Given the description of an element on the screen output the (x, y) to click on. 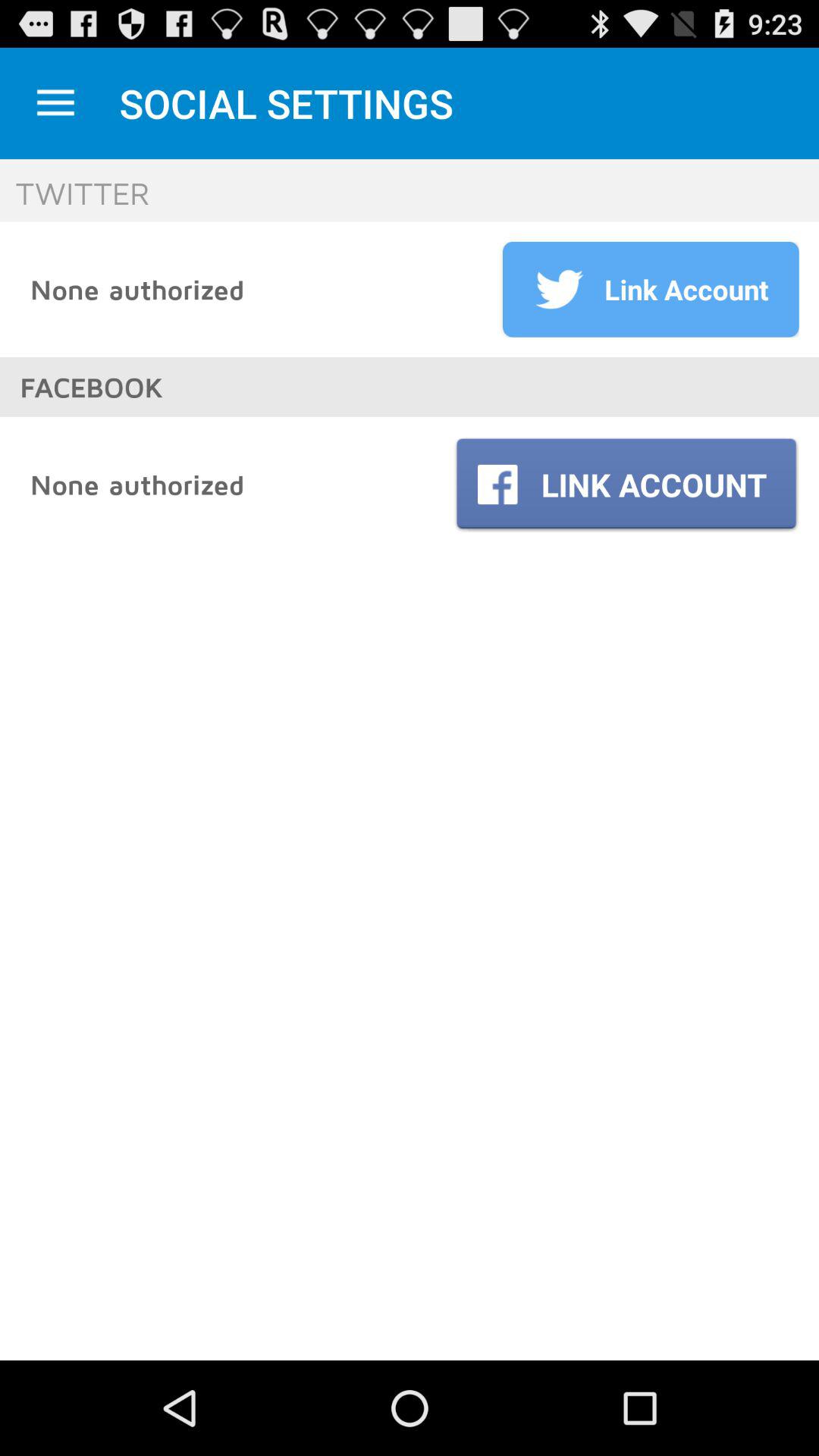
tap the icon to the left of the social settings icon (55, 103)
